Given the description of an element on the screen output the (x, y) to click on. 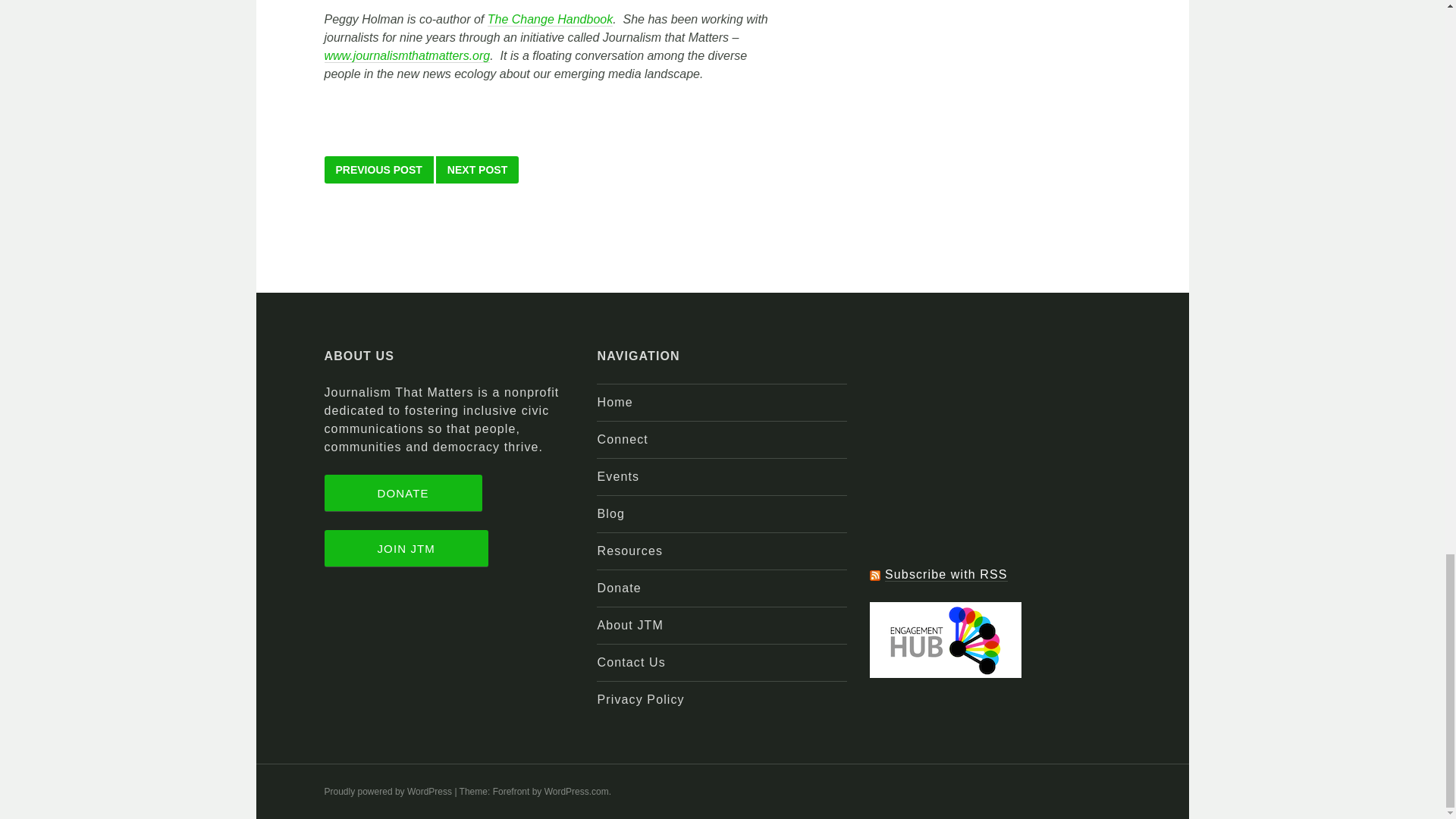
Privacy Policy (640, 698)
About JTM (629, 625)
NEXT POST (476, 169)
Contact Us (630, 662)
Events (617, 476)
Journalism that Matters (407, 56)
Blog (610, 513)
DONATE (402, 493)
The Change Handbook (549, 19)
PREVIOUS POST (378, 169)
